Given the description of an element on the screen output the (x, y) to click on. 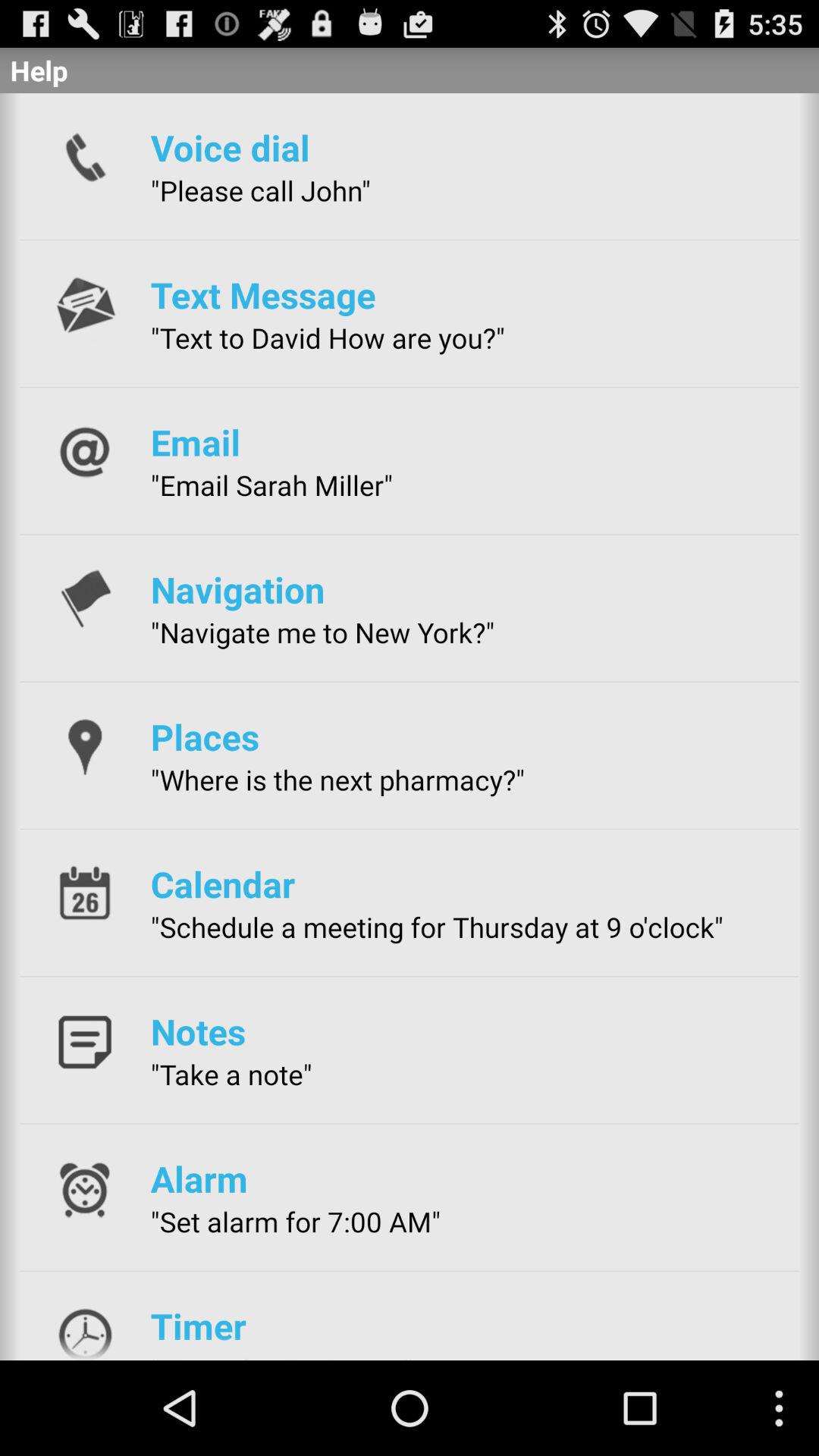
turn off navigation (237, 589)
